Given the description of an element on the screen output the (x, y) to click on. 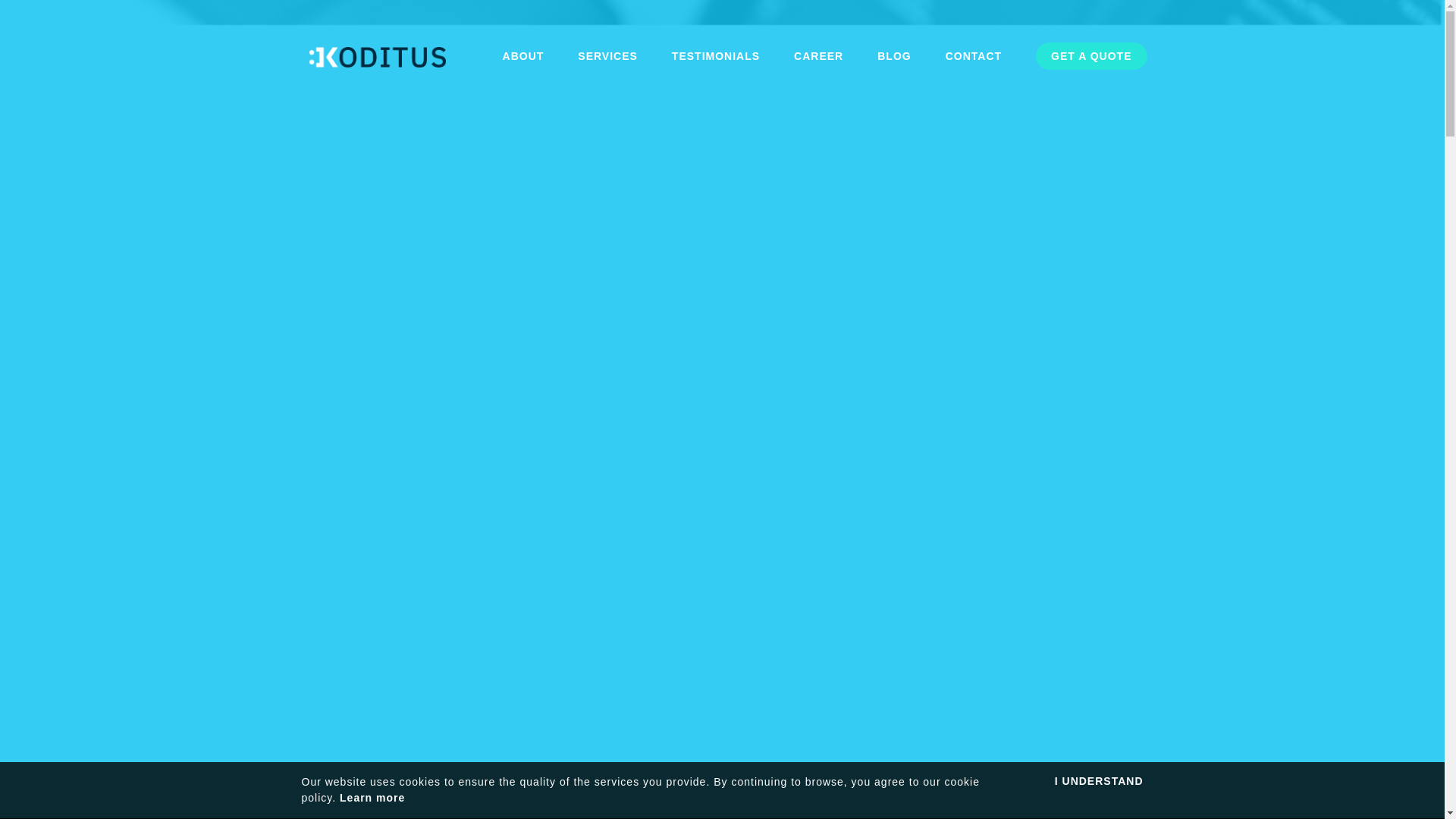
CONTACT (972, 55)
SERVICES (607, 55)
Learn more (371, 797)
I UNDERSTAND (1098, 781)
GET A QUOTE (1091, 55)
ABOUT (523, 55)
TESTIMONIALS (715, 55)
CAREER (818, 55)
BLOG (894, 55)
